Given the description of an element on the screen output the (x, y) to click on. 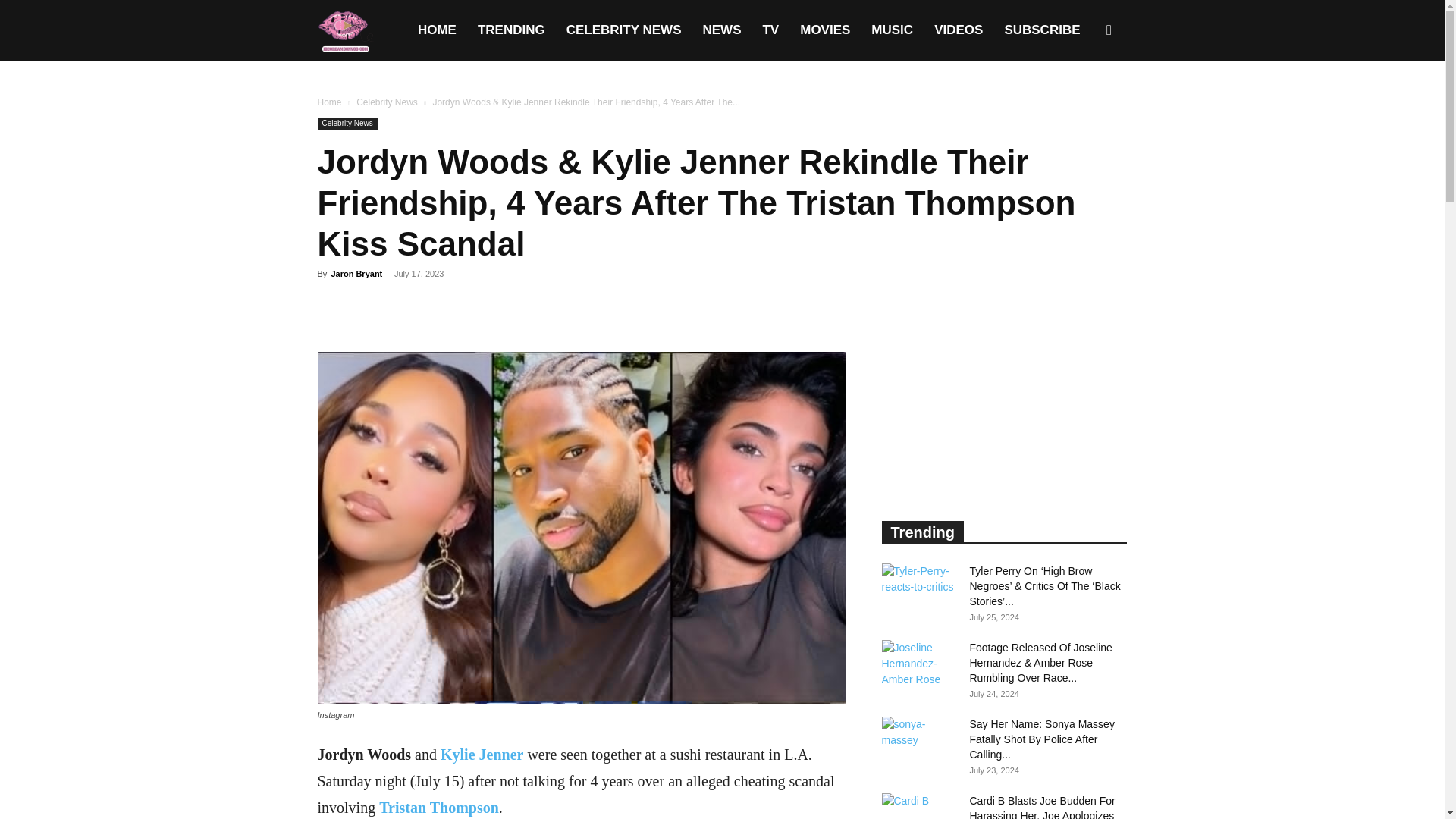
MUSIC (891, 30)
Celebrity News (347, 123)
Celebrity News (386, 102)
HOME (437, 30)
Jaron Bryant (355, 273)
View all posts in Celebrity News (386, 102)
Search (1085, 102)
Ice Cream Convos (344, 30)
TRENDING (511, 30)
SUBSCRIBE (1041, 30)
TV (770, 30)
Home (328, 102)
MOVIES (824, 30)
CELEBRITY NEWS (624, 30)
NEWS (721, 30)
